Given the description of an element on the screen output the (x, y) to click on. 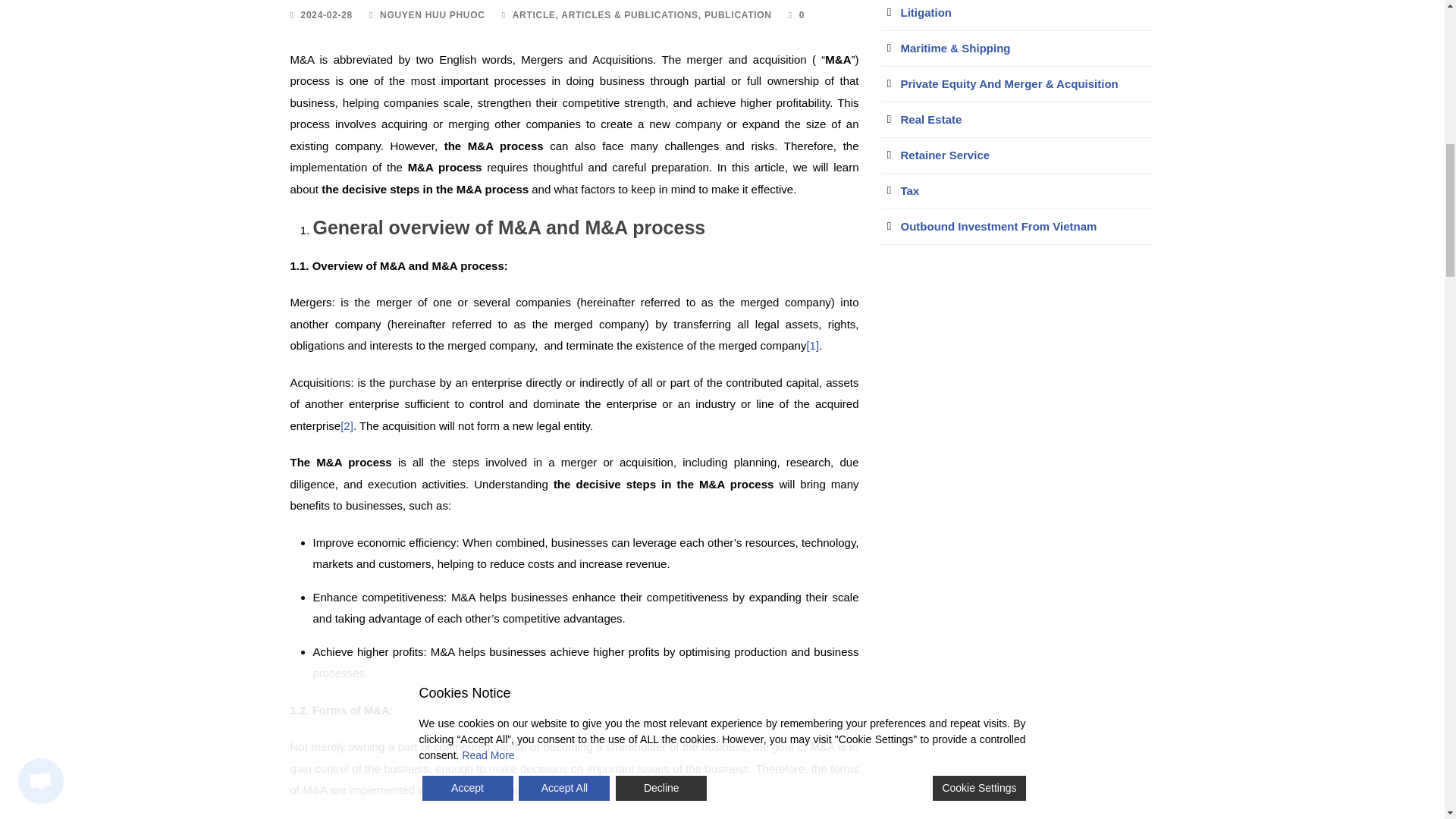
Posts by Nguyen Huu Phuoc (432, 14)
